Given the description of an element on the screen output the (x, y) to click on. 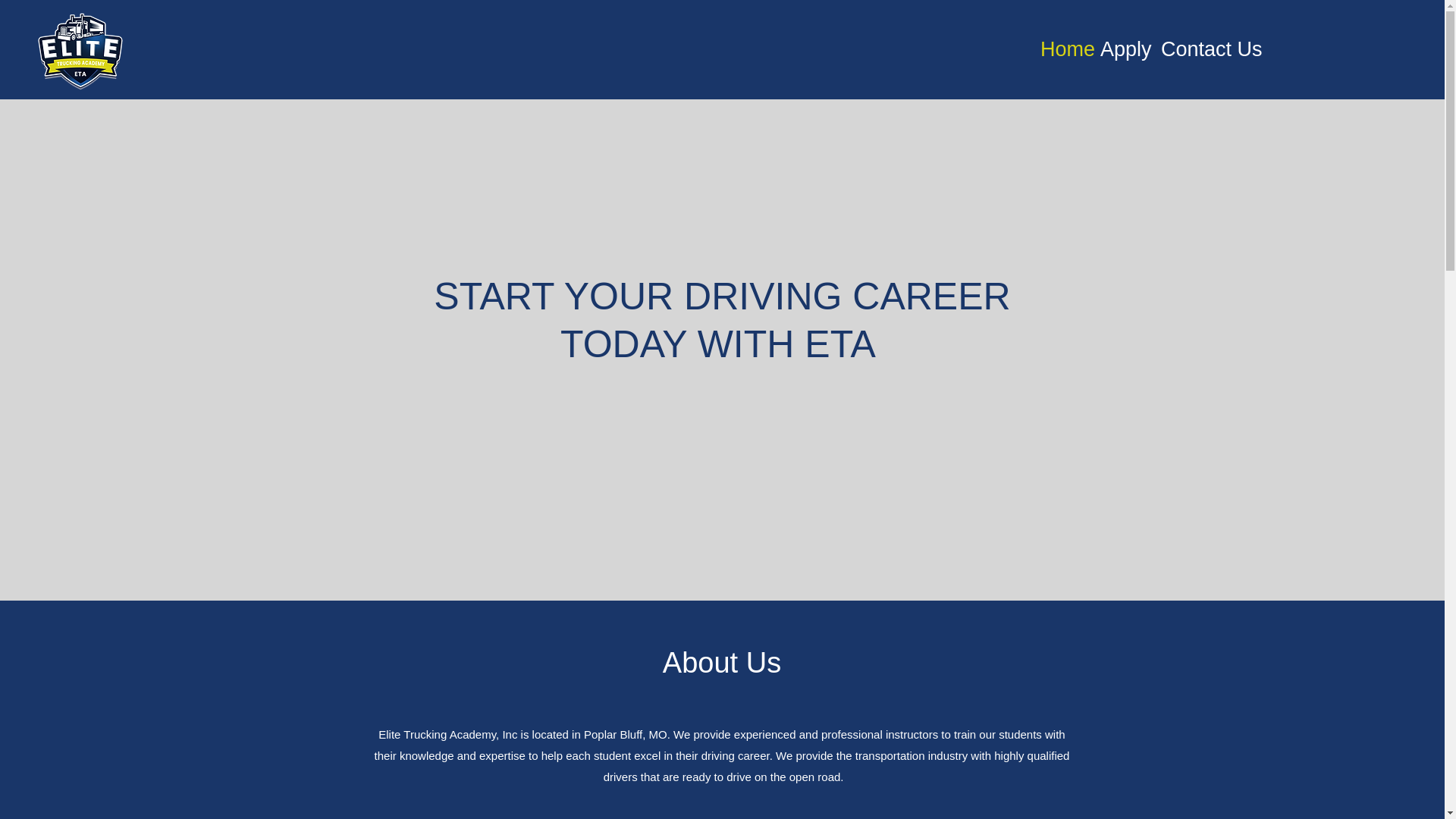
Apply (1123, 49)
Home (1062, 49)
Contact Us (1203, 49)
